Given the description of an element on the screen output the (x, y) to click on. 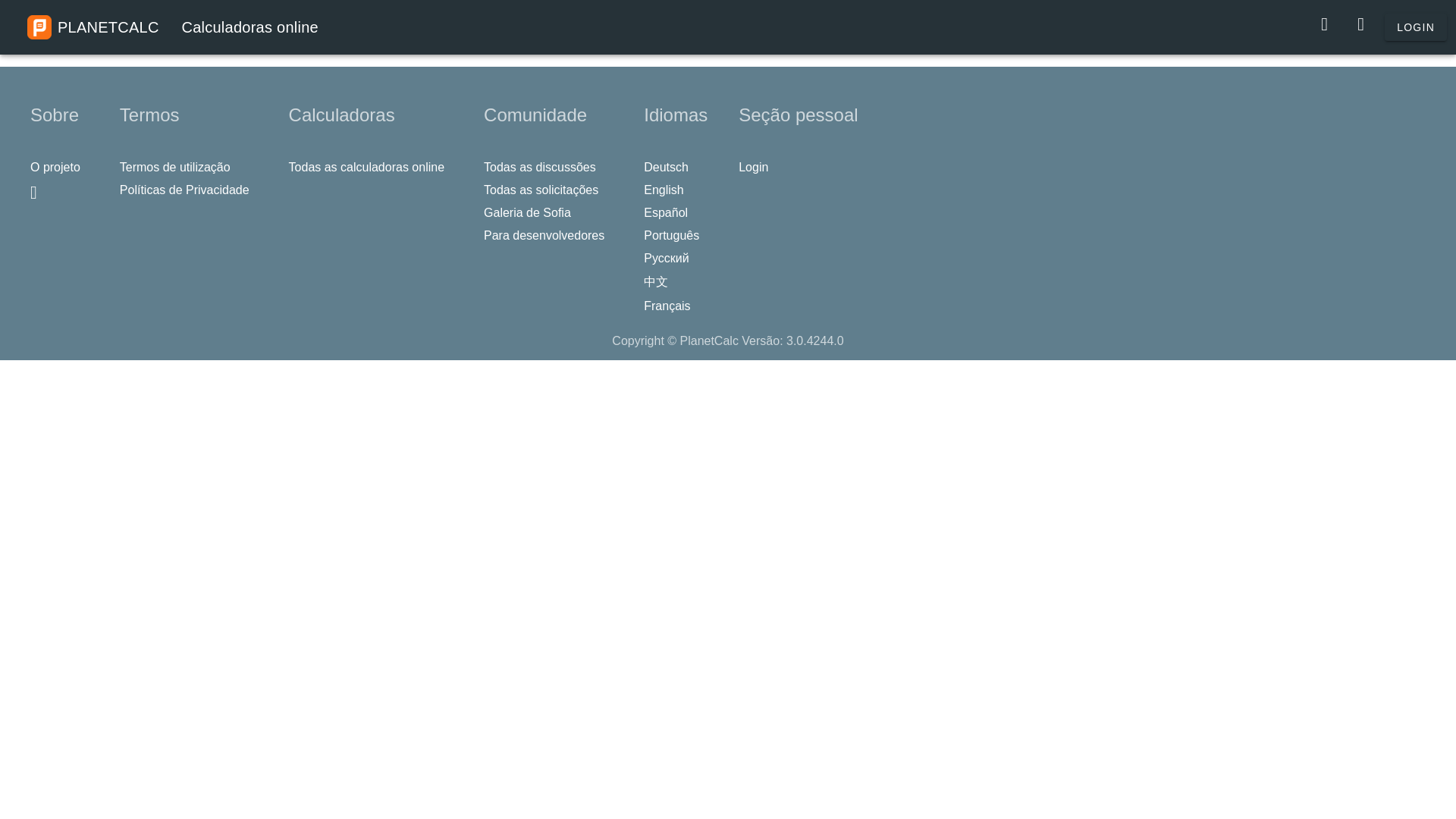
English (668, 189)
Galeria de Sofia (531, 212)
O projeto (59, 166)
Deutsch (670, 166)
Para desenvolvedores (547, 235)
Calculadoras online (172, 27)
English (668, 189)
Deutsch (670, 166)
Login (757, 166)
Todas as calculadoras online (370, 166)
LOGIN (1415, 26)
PLANETCALC Calculadoras online (172, 27)
